Given the description of an element on the screen output the (x, y) to click on. 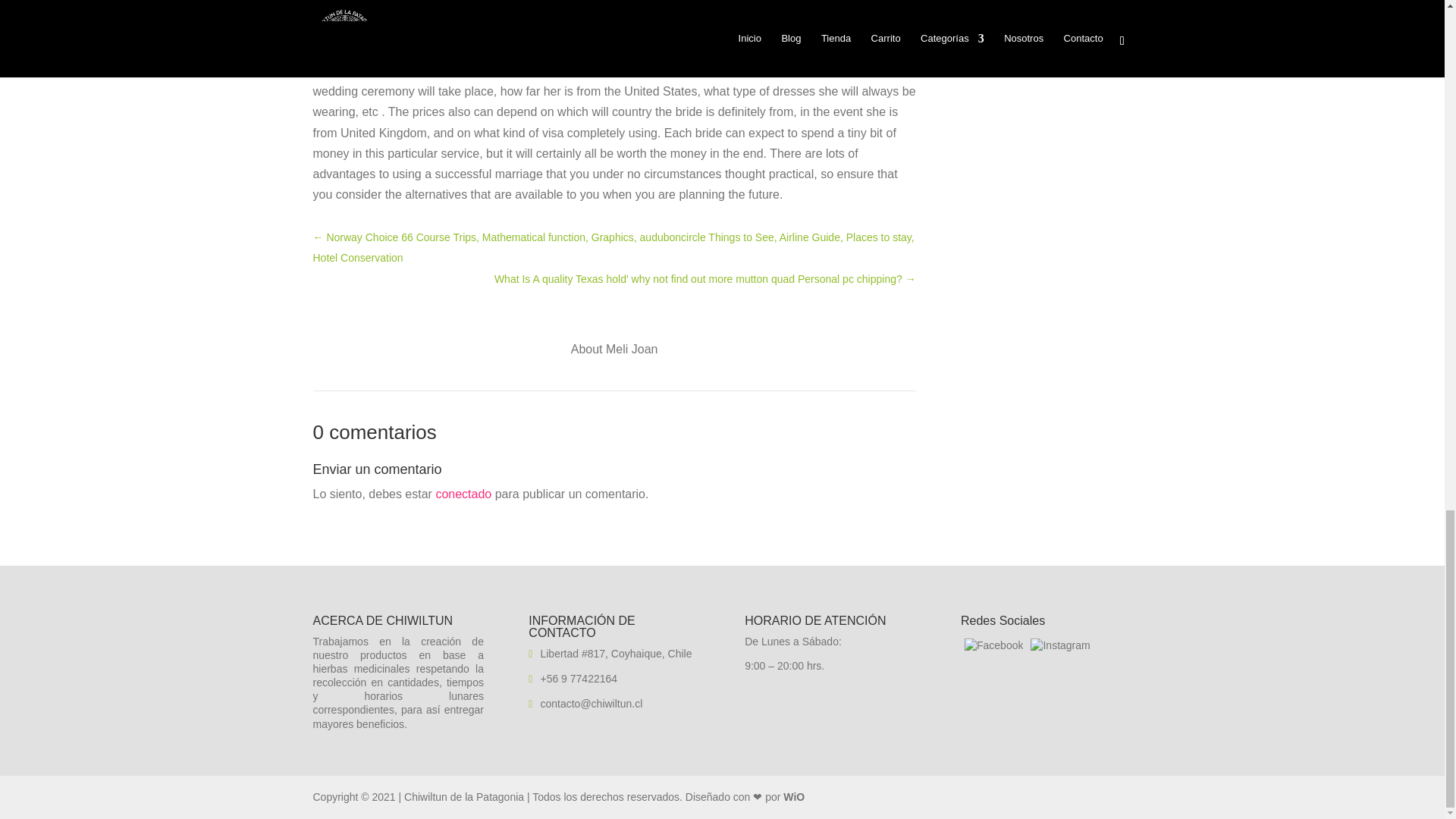
conectado (463, 493)
